Given the description of an element on the screen output the (x, y) to click on. 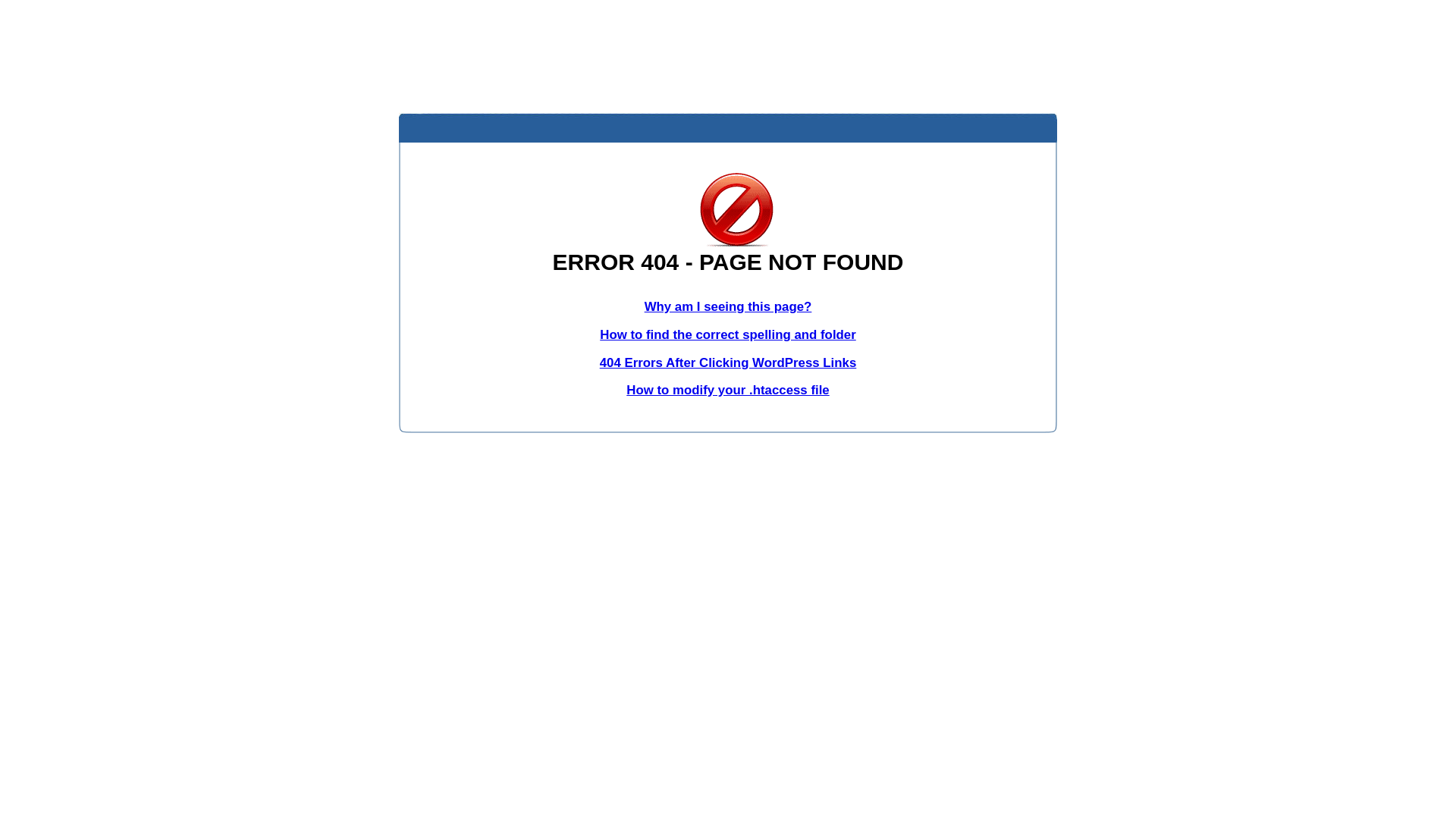
404 Errors After Clicking WordPress Links Element type: text (727, 362)
How to modify your .htaccess file Element type: text (727, 389)
Why am I seeing this page? Element type: text (728, 306)
How to find the correct spelling and folder Element type: text (727, 334)
